Given the description of an element on the screen output the (x, y) to click on. 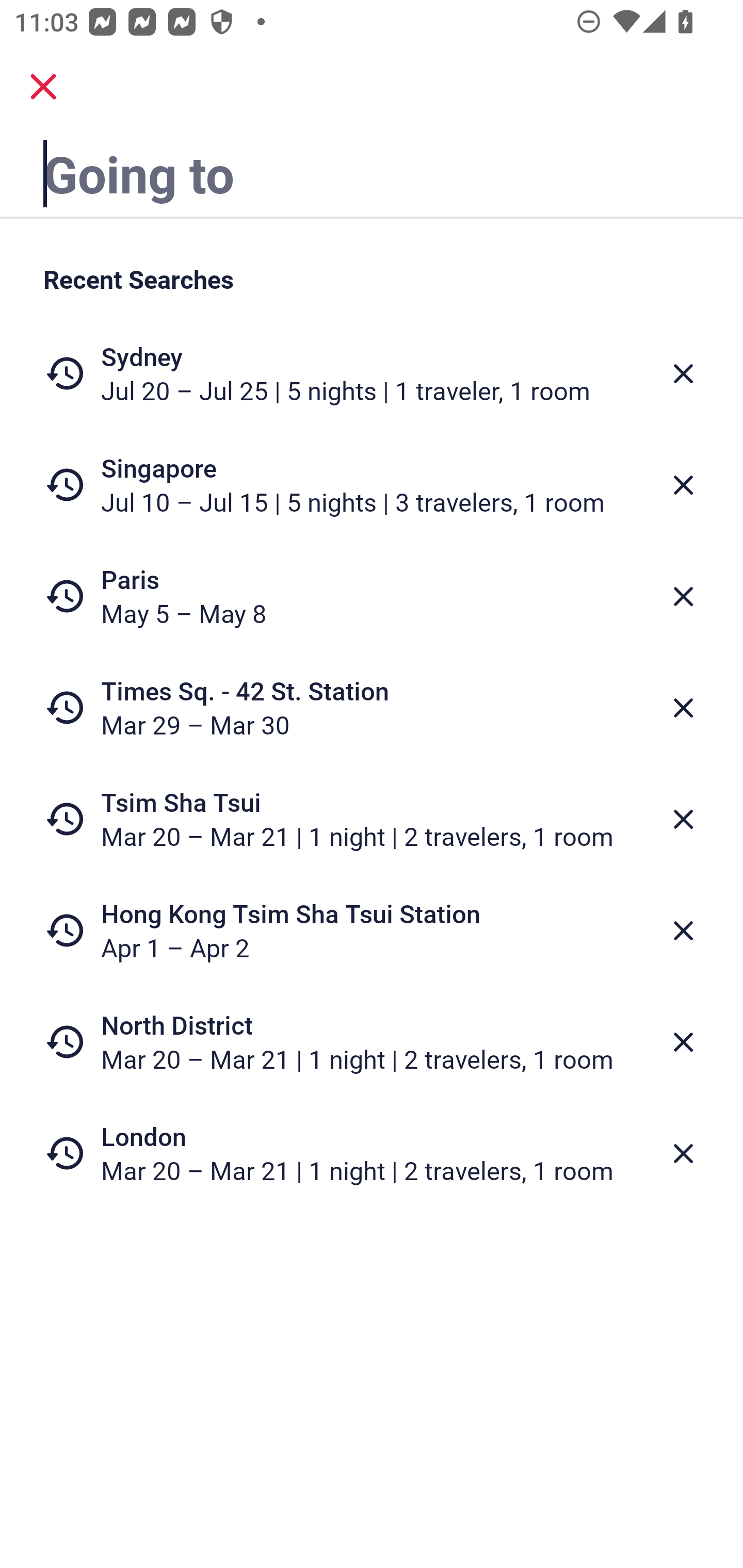
close. (43, 86)
Delete from recent searches (683, 373)
Delete from recent searches (683, 485)
Paris May 5 – May 8 (371, 596)
Delete from recent searches (683, 596)
Times Sq. - 42 St. Station Mar 29 – Mar 30 (371, 707)
Delete from recent searches (683, 707)
Delete from recent searches (683, 819)
Hong Kong Tsim Sha Tsui Station Apr 1 – Apr 2 (371, 930)
Delete from recent searches (683, 930)
Delete from recent searches (683, 1041)
Delete from recent searches (683, 1153)
